Given the description of an element on the screen output the (x, y) to click on. 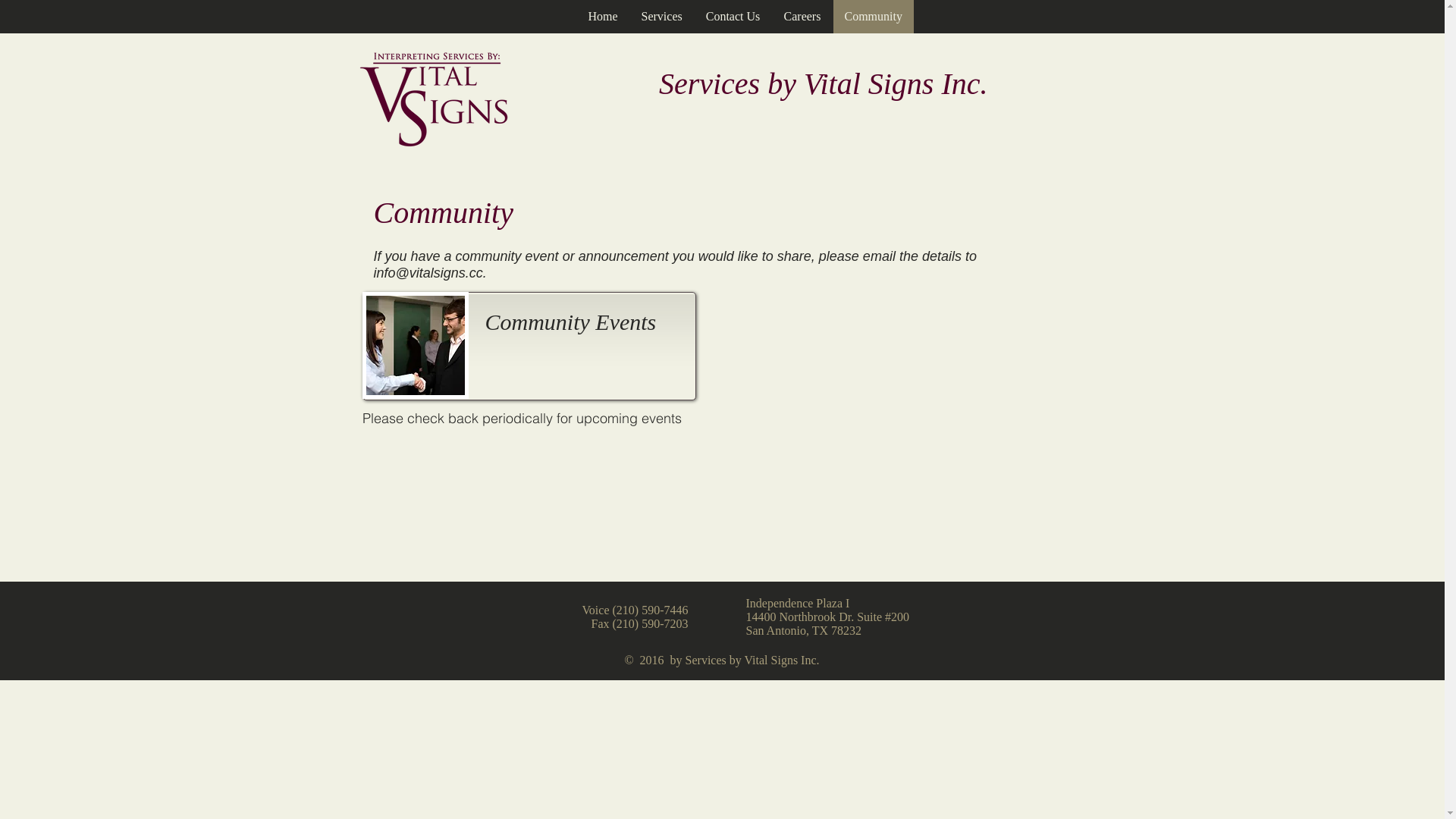
Smiling Handshake  Element type: hover (415, 344)
Community Element type: text (872, 16)
info@vitalsigns.cc Element type: text (427, 272)
Please check back periodically for upcoming events Element type: text (521, 417)
Contact Us Element type: text (732, 16)
VS v7.png Element type: hover (438, 107)
Home Element type: text (602, 16)
Careers Element type: text (801, 16)
Services Element type: text (661, 16)
